Given the description of an element on the screen output the (x, y) to click on. 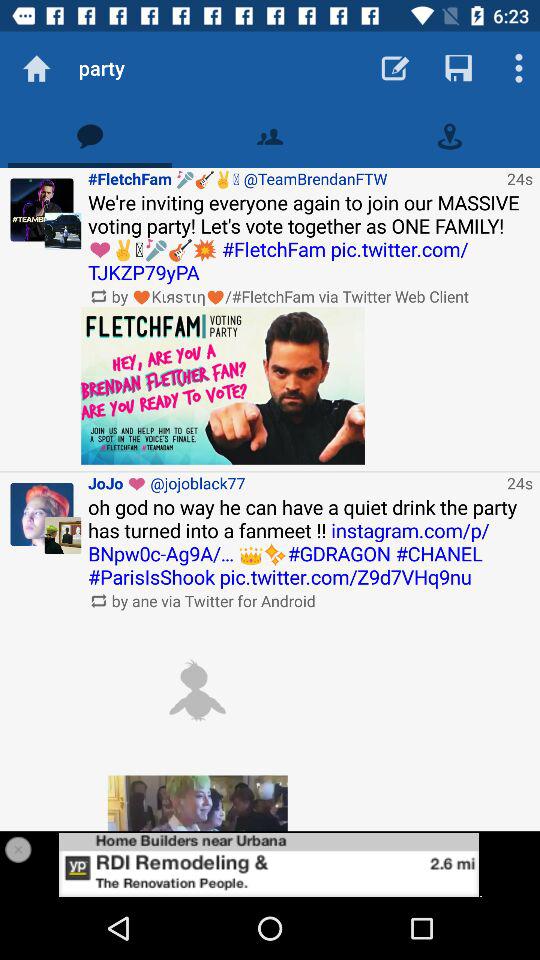
enlarge picture (197, 803)
